Given the description of an element on the screen output the (x, y) to click on. 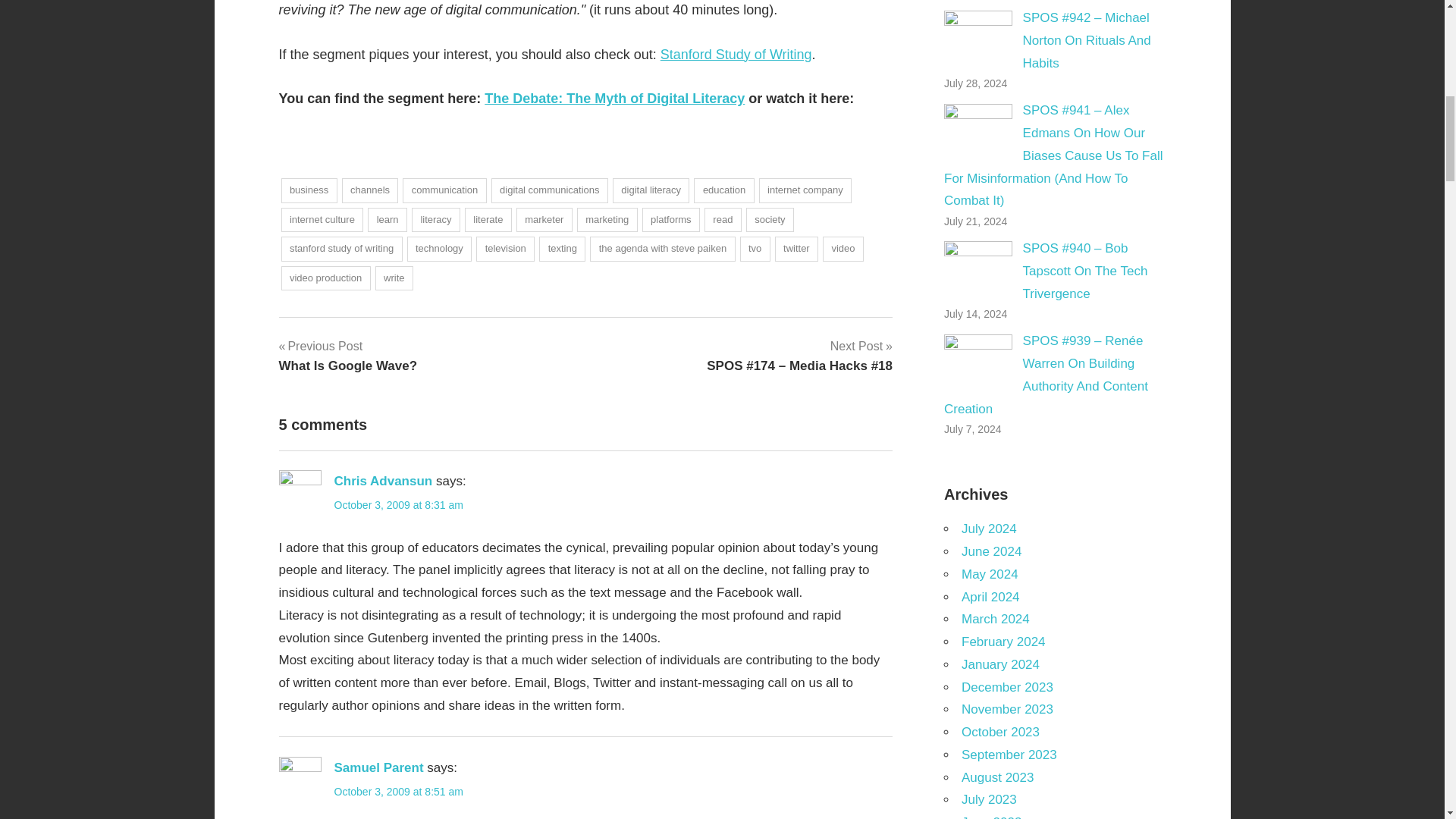
literacy (436, 220)
read (722, 220)
marketer (544, 220)
education (724, 190)
learn (387, 220)
digital literacy (651, 190)
channels (370, 190)
business (308, 190)
platforms (671, 220)
communication (444, 190)
internet company (804, 190)
literate (488, 220)
marketing (606, 220)
Stanford Study of Writing (736, 54)
The Debate: The Myth of Digital Literacy (614, 98)
